Given the description of an element on the screen output the (x, y) to click on. 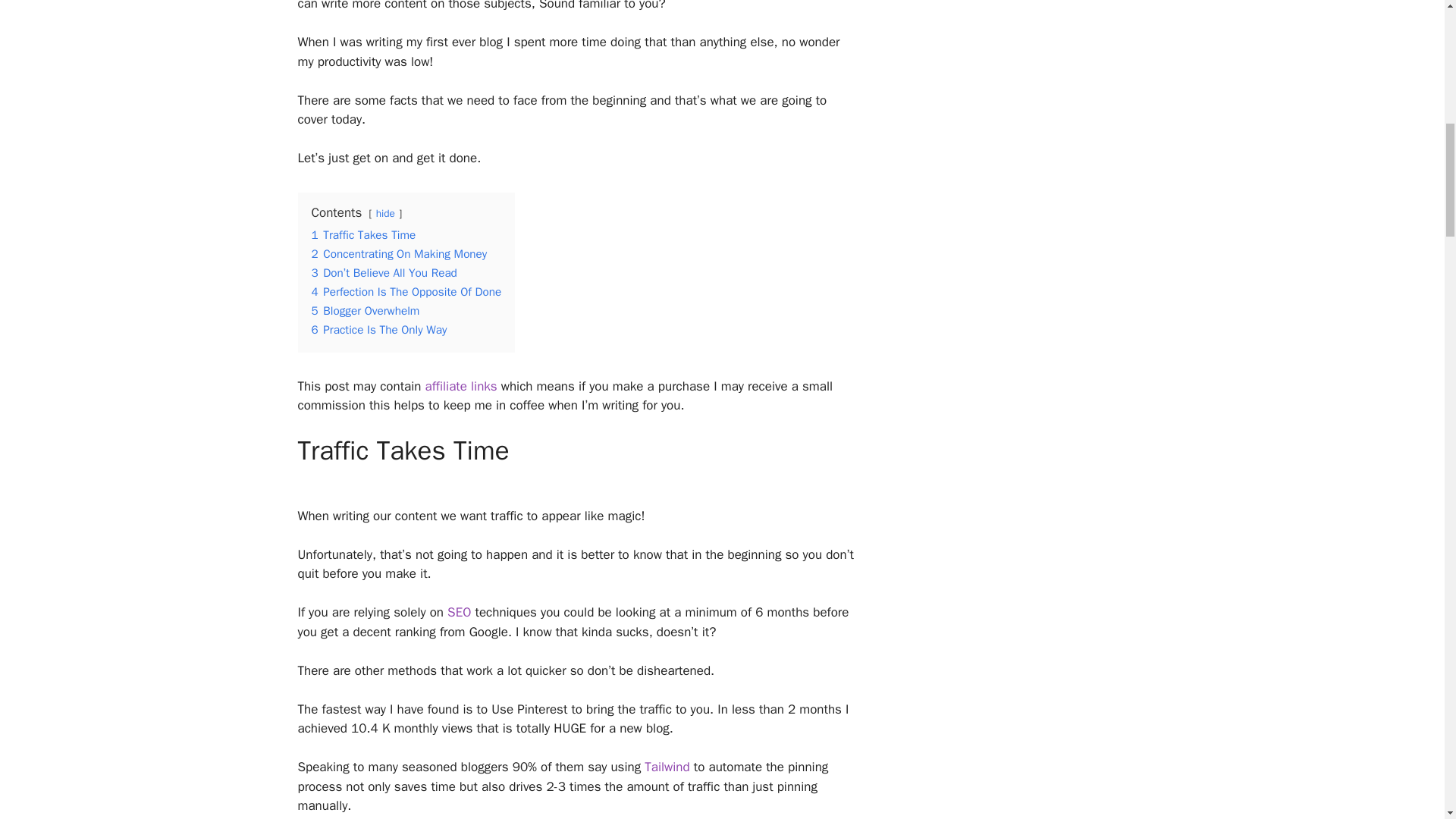
4 Perfection Is The Opposite Of Done (405, 291)
5 Blogger Overwhelm (365, 310)
SE (454, 611)
2 Concentrating On Making Money (398, 253)
Tailwin (663, 766)
affiliate links (461, 385)
Scroll back to top (1406, 720)
6 Practice Is The Only Way (378, 329)
1 Traffic Takes Time (362, 234)
hide (384, 213)
